Given the description of an element on the screen output the (x, y) to click on. 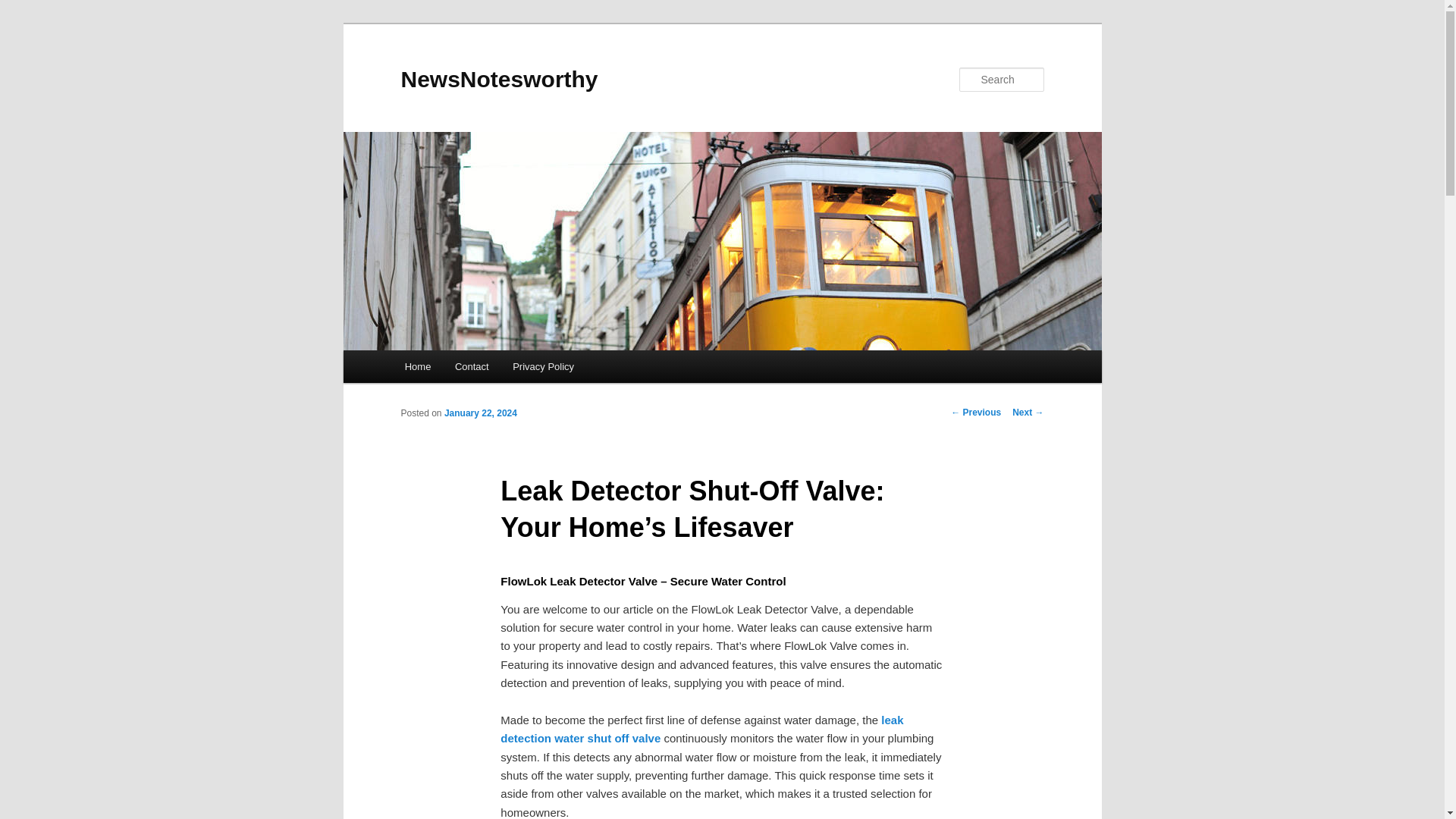
Privacy Policy (542, 366)
January 22, 2024 (480, 412)
Home (417, 366)
leak detection water shut off valve (701, 728)
NewsNotesworthy (498, 78)
11:09 pm (480, 412)
Contact (471, 366)
Search (24, 8)
